Given the description of an element on the screen output the (x, y) to click on. 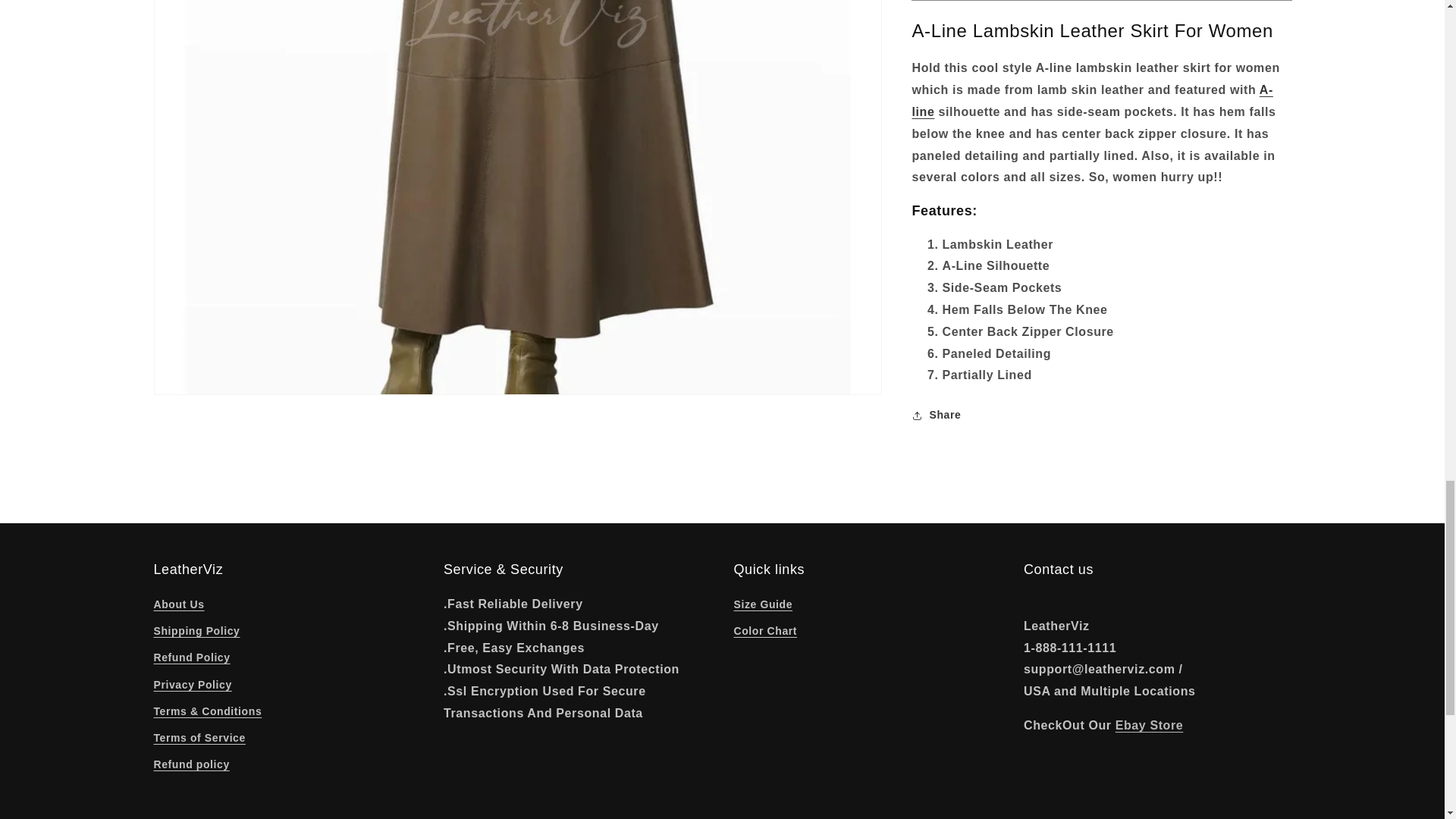
LeatherViz eBay Stores  (1149, 725)
